Given the description of an element on the screen output the (x, y) to click on. 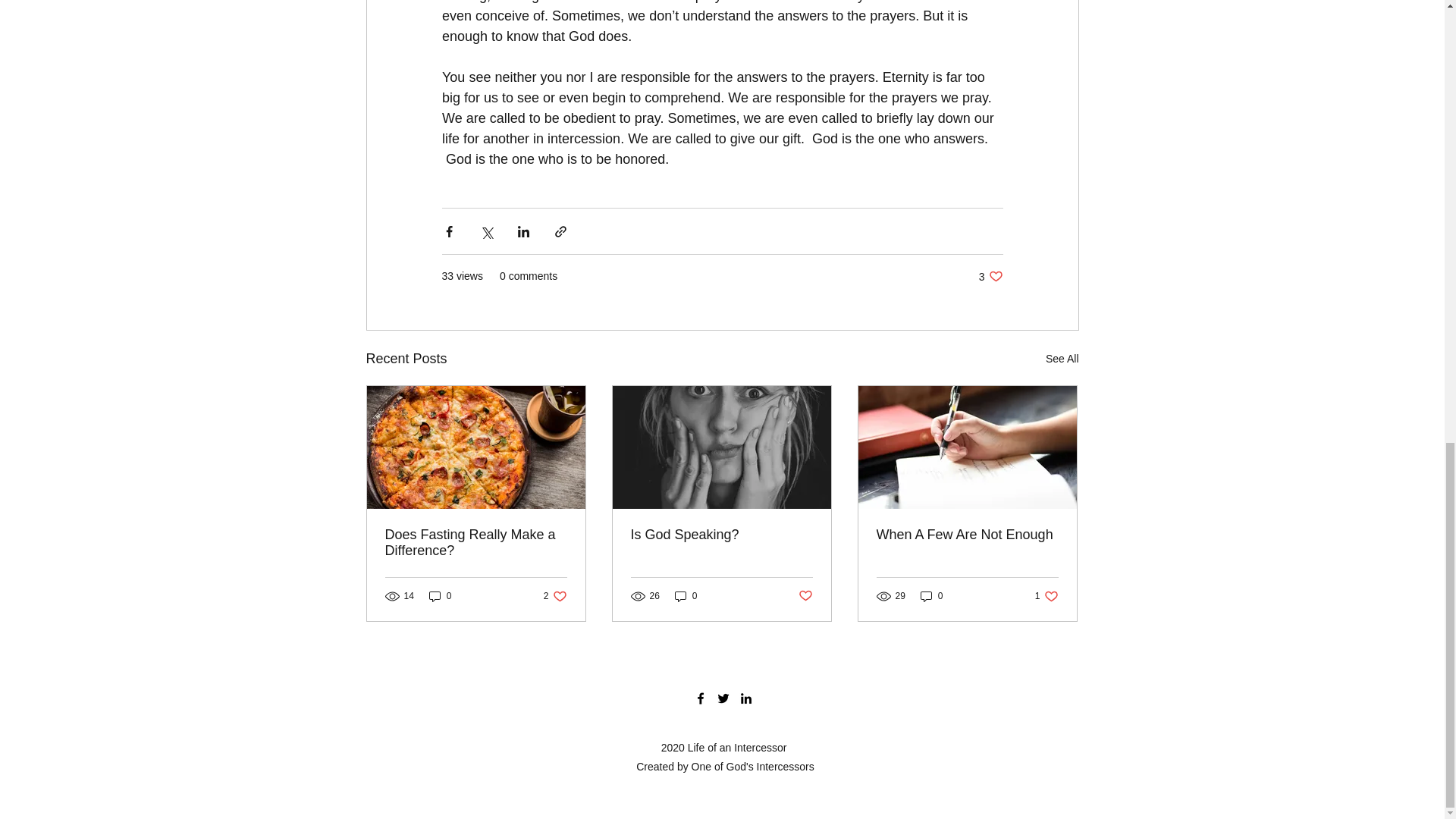
Is God Speaking? (555, 595)
0 (721, 534)
0 (931, 595)
Does Fasting Really Make a Difference? (685, 595)
See All (476, 542)
0 (1061, 359)
Post not marked as liked (440, 595)
When A Few Are Not Enough (804, 596)
